Given the description of an element on the screen output the (x, y) to click on. 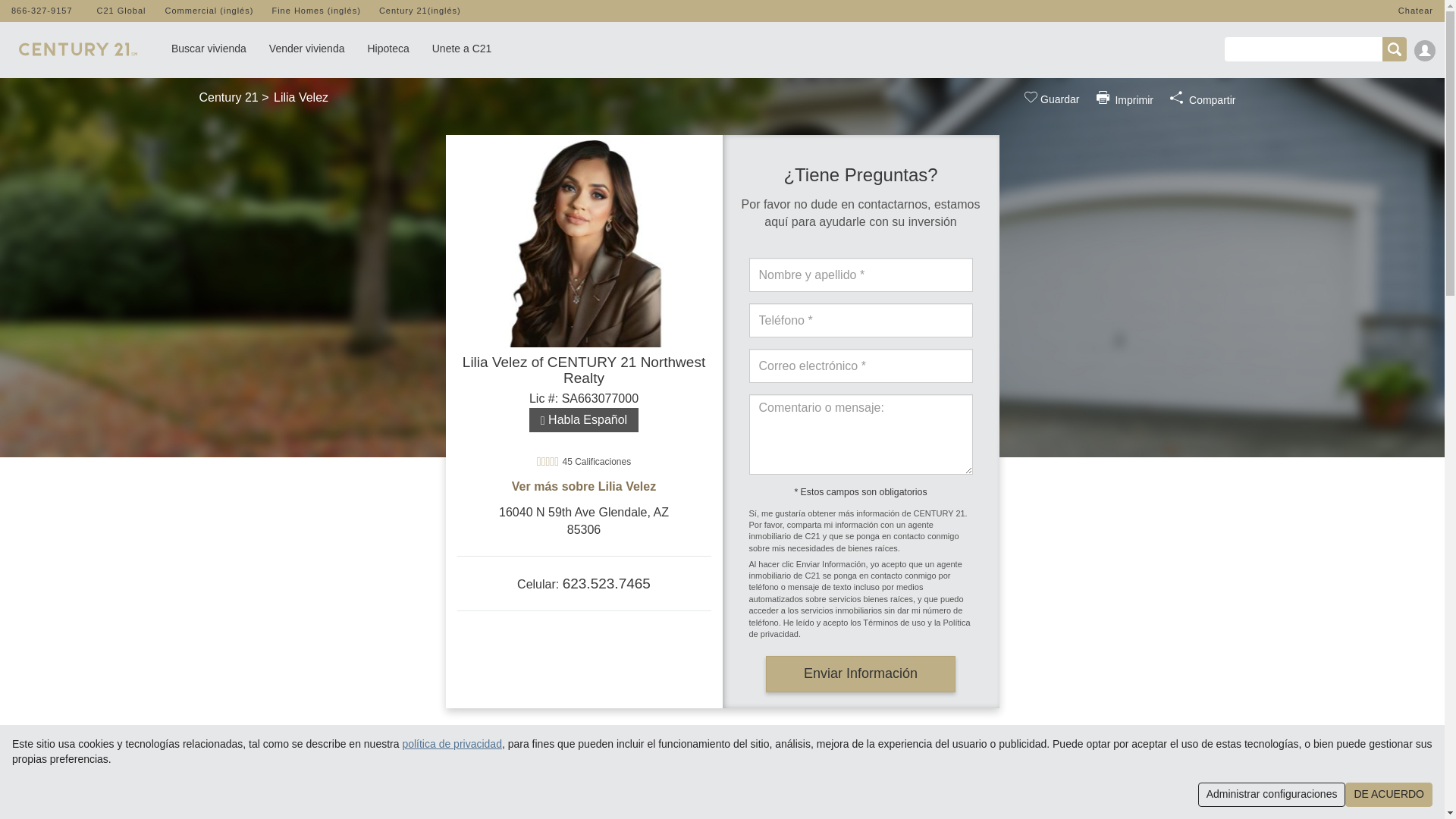
C21 Global (122, 10)
Hipoteca (387, 44)
Vender vivienda (306, 44)
Home (77, 45)
Buscar vivienda (208, 44)
Administrar configuraciones (1271, 794)
Chatear (1414, 10)
866-327-9157 (41, 10)
DE ACUERDO (1388, 794)
